Given the description of an element on the screen output the (x, y) to click on. 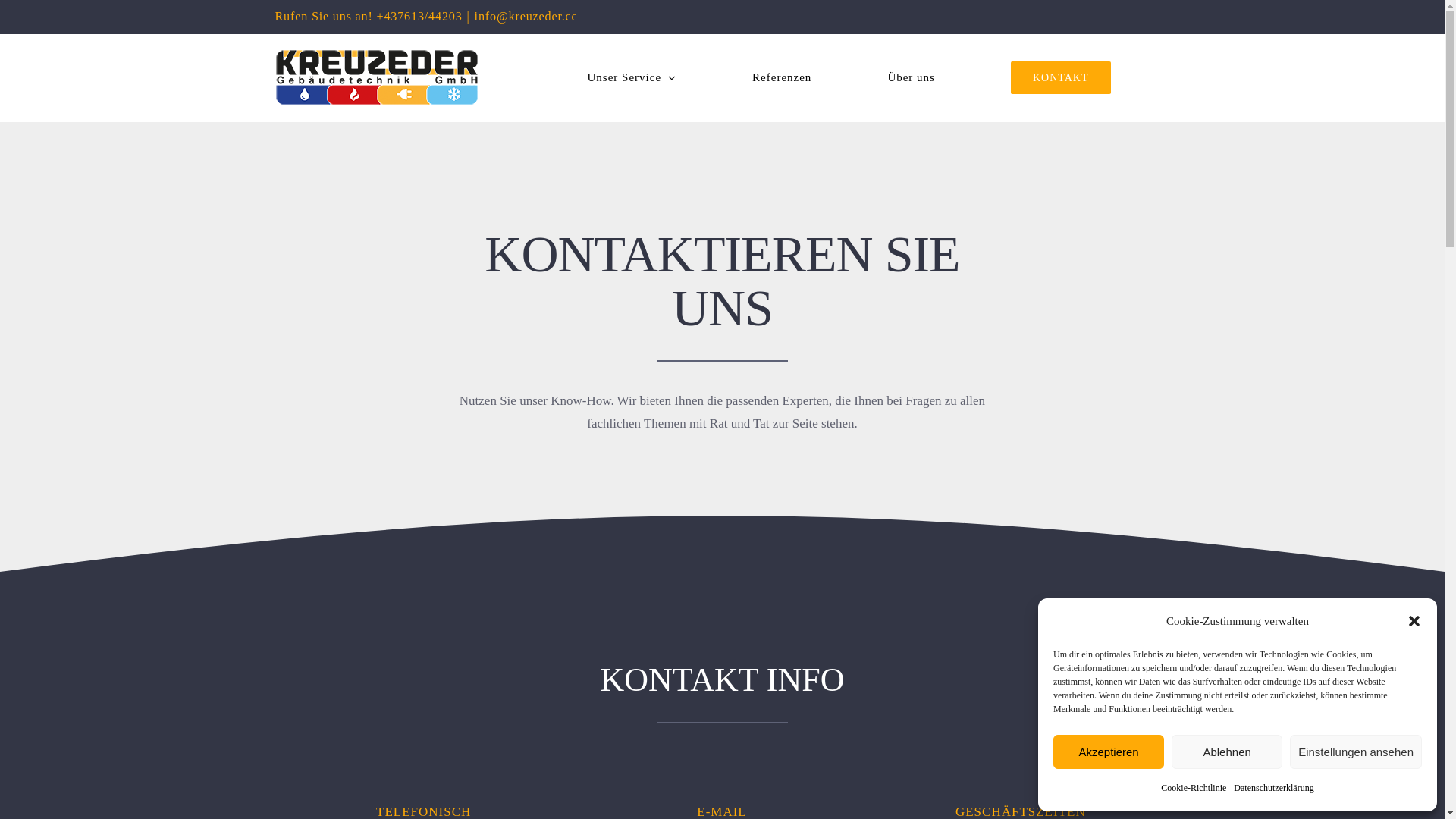
Cookie-Richtlinie Element type: text (1193, 788)
Akzeptieren Element type: text (1108, 751)
+437613/44203 Element type: text (418, 16)
Unser Service Element type: text (632, 77)
info@kreuzeder.cc Element type: text (525, 16)
Einstellungen ansehen Element type: text (1355, 751)
Ablehnen Element type: text (1226, 751)
Referenzen Element type: text (781, 77)
KONTAKT Element type: text (1060, 77)
